Given the description of an element on the screen output the (x, y) to click on. 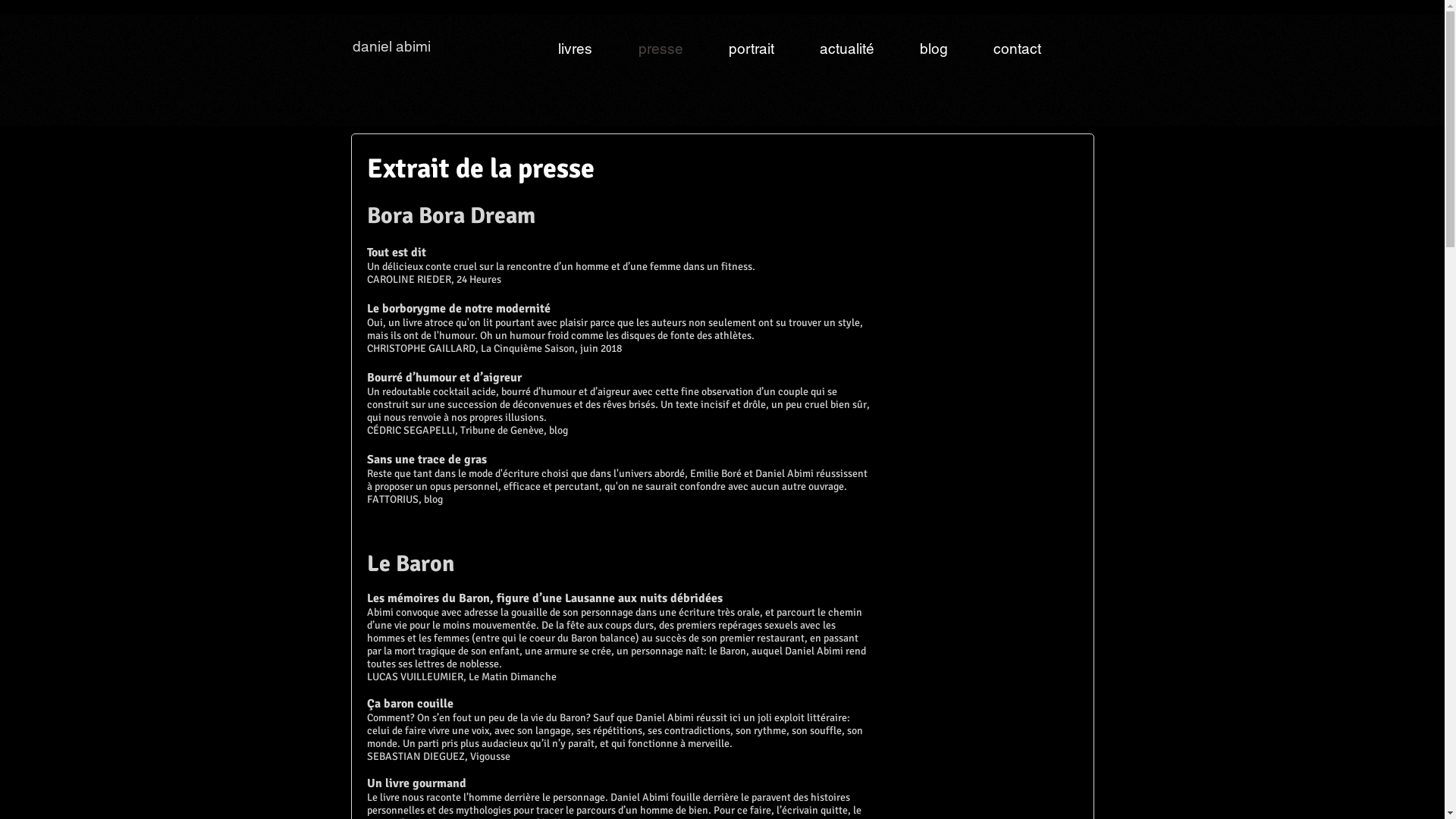
blog Element type: text (919, 48)
contact Element type: text (1001, 48)
Sans une trace de gras Element type: text (426, 459)
AROLINE RIEDER, 24 Heures Element type: text (437, 279)
daniel abimi  Element type: text (392, 45)
Bora Bora Dream Element type: text (451, 215)
C Element type: text (370, 279)
presse Element type: text (645, 48)
FATTORIUS, blog Element type: text (404, 498)
livres Element type: text (560, 48)
SEBASTIAN DIEGUEZ, Vigousse Element type: text (438, 755)
Extrait de la presse Element type: text (480, 168)
Le Baron Element type: text (410, 563)
portrait Element type: text (736, 48)
